Given the description of an element on the screen output the (x, y) to click on. 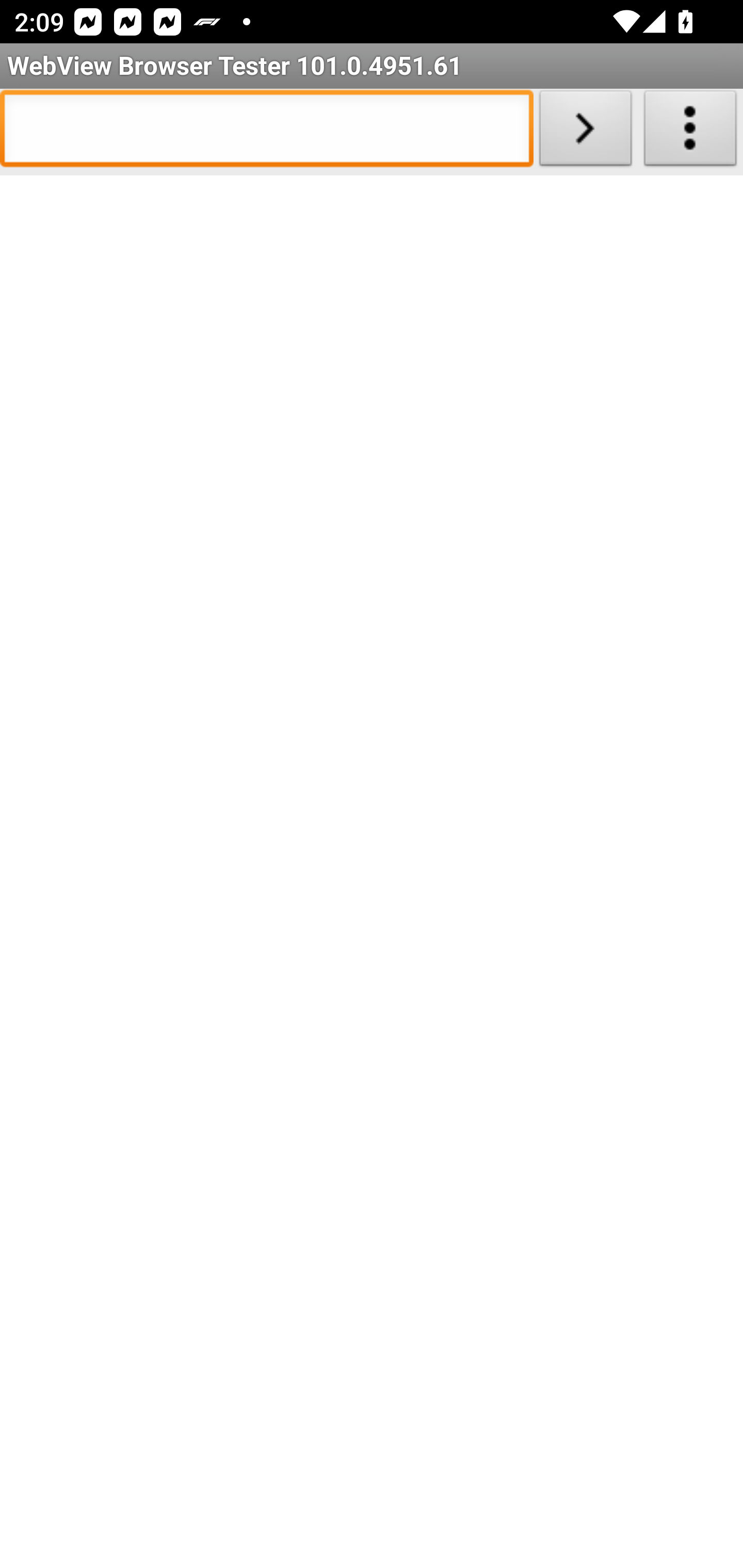
Load URL (585, 132)
About WebView (690, 132)
